Given the description of an element on the screen output the (x, y) to click on. 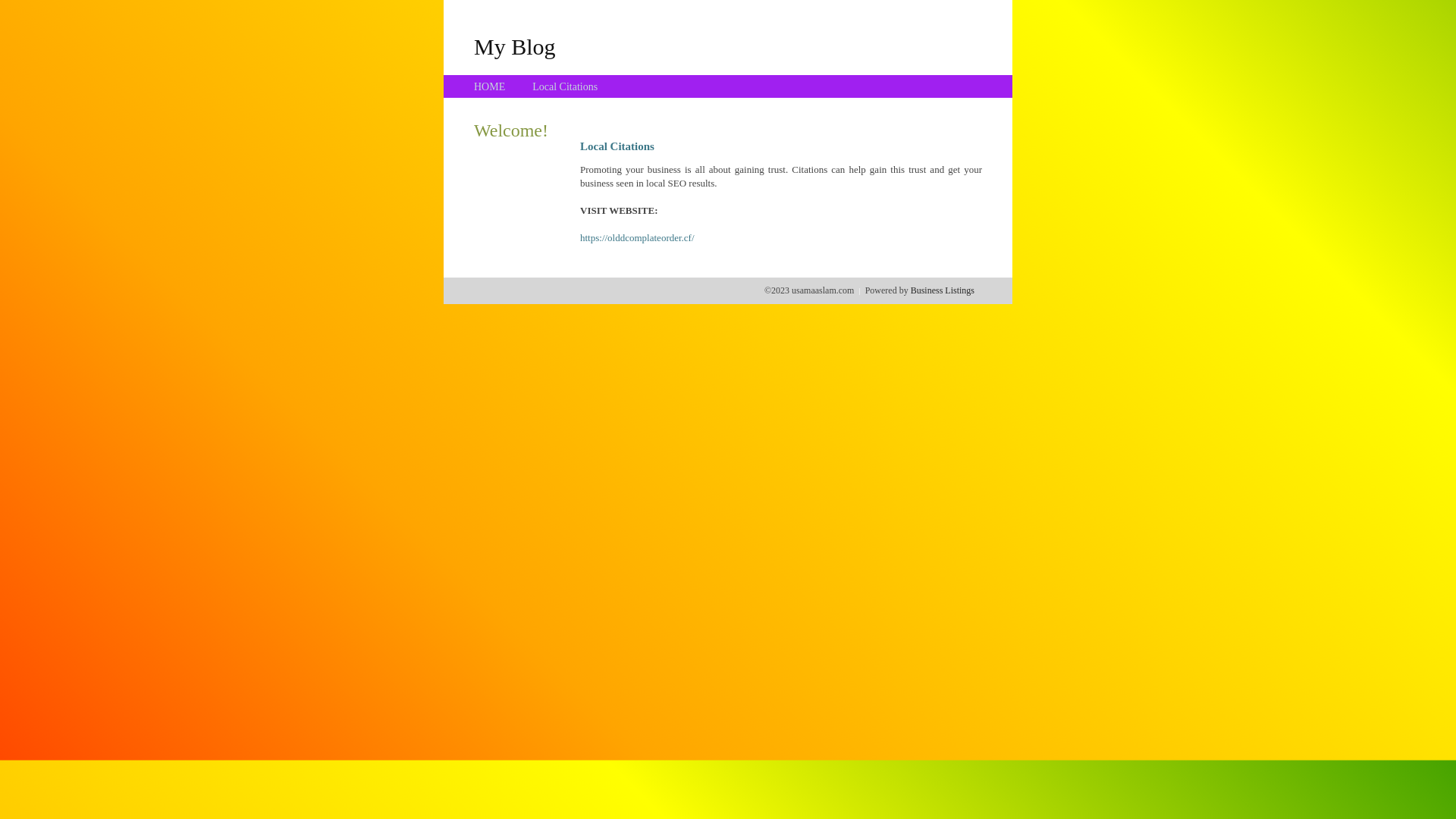
HOME Element type: text (489, 86)
Business Listings Element type: text (942, 290)
Local Citations Element type: text (564, 86)
My Blog Element type: text (514, 46)
https://olddcomplateorder.cf/ Element type: text (637, 237)
